Given the description of an element on the screen output the (x, y) to click on. 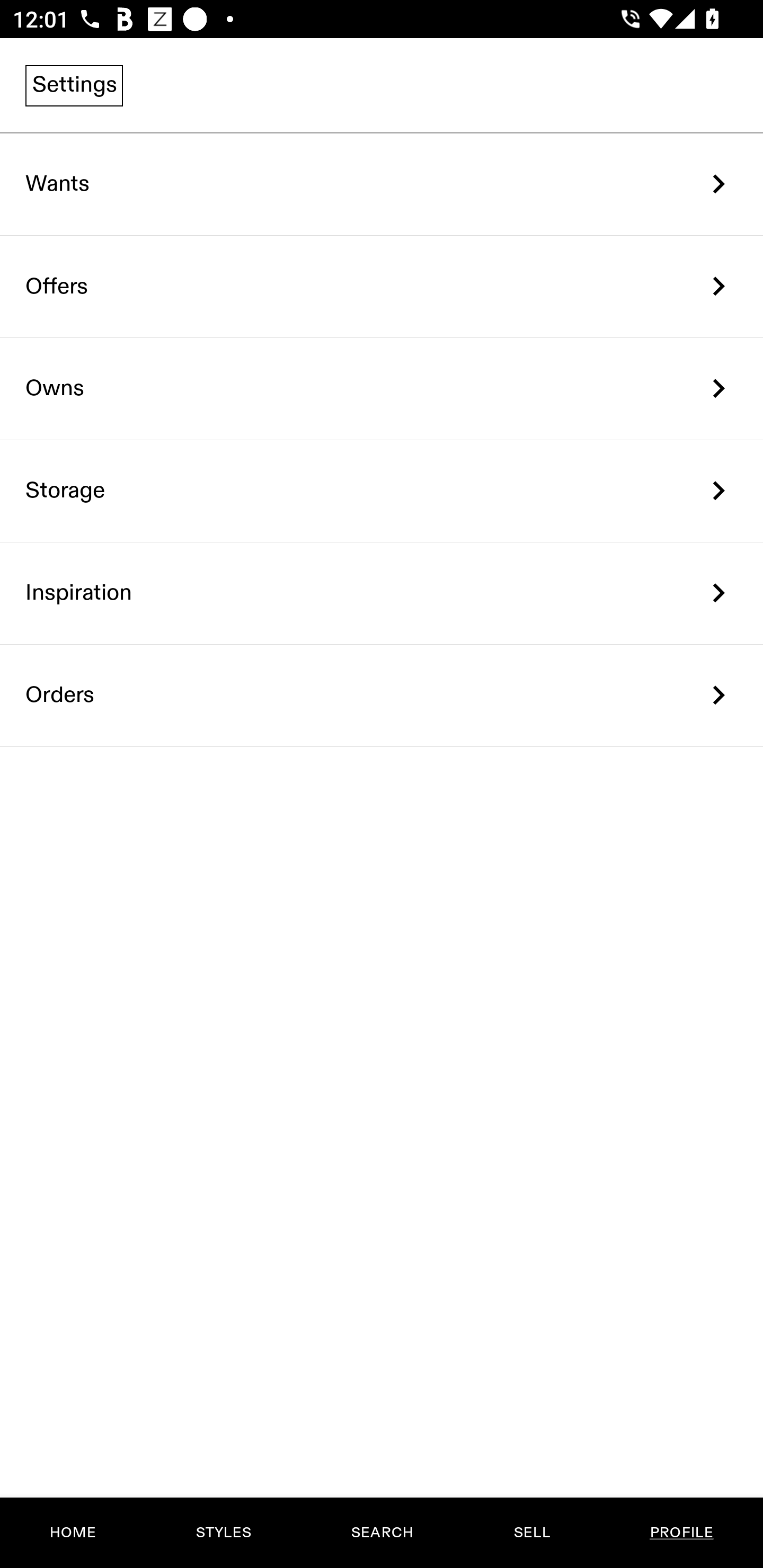
Settings (73, 85)
Wants (381, 184)
Offers (381, 286)
Owns (381, 388)
Storage (381, 491)
Inspiration (381, 593)
Orders (381, 695)
HOME (72, 1532)
STYLES (222, 1532)
SEARCH (381, 1532)
SELL (531, 1532)
PROFILE (681, 1532)
